Given the description of an element on the screen output the (x, y) to click on. 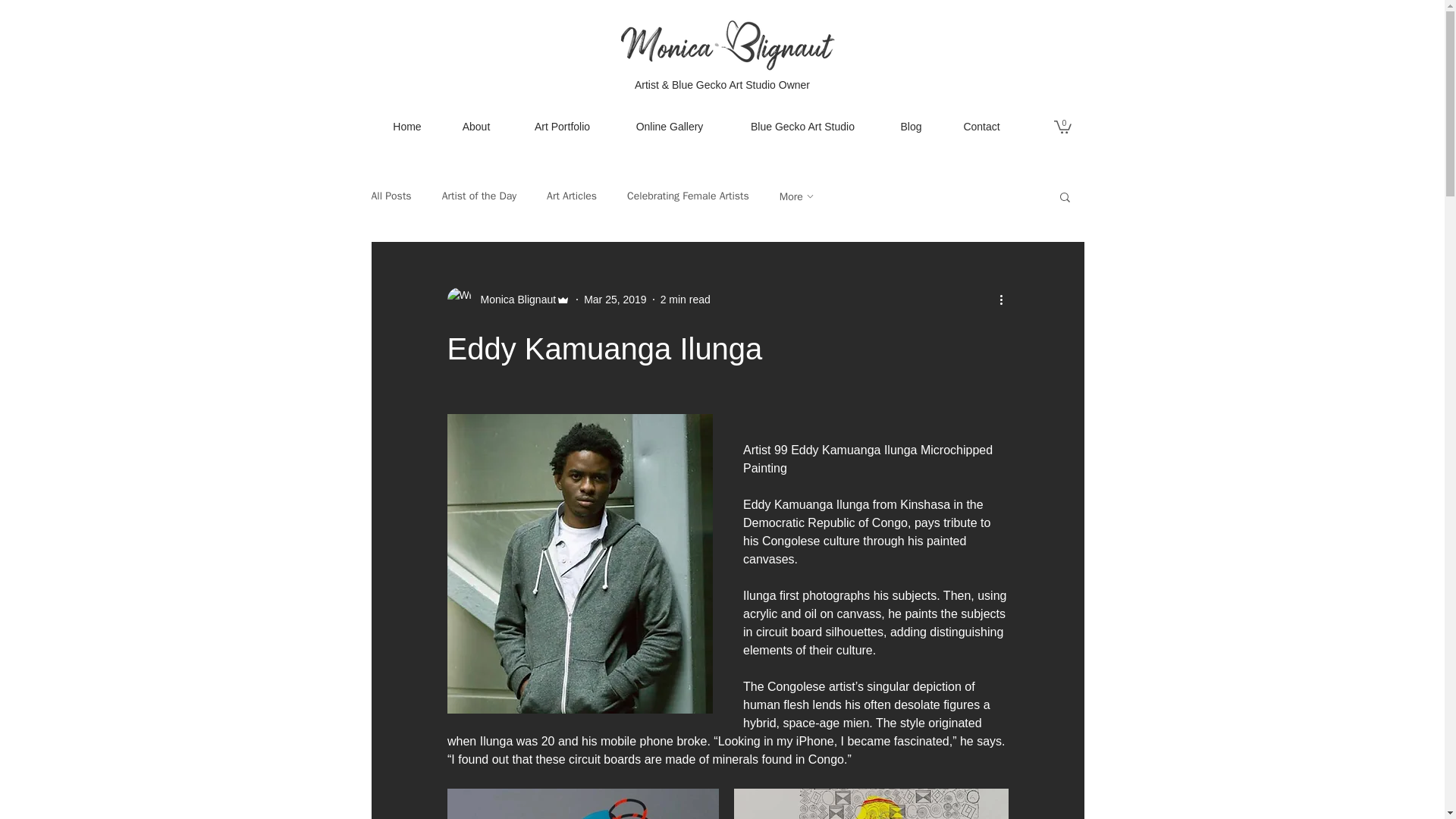
About (476, 126)
Home (407, 126)
Mar 25, 2019 (614, 299)
Contact (981, 126)
Artist of the Day (479, 196)
Blue Gecko Art Studio (802, 126)
Monica Blignaut (508, 299)
Celebrating Female Artists (688, 196)
2 min read (685, 299)
Monica Blignaut (513, 299)
Art Portfolio (562, 126)
Blog (910, 126)
Online Gallery (669, 126)
All Posts (391, 196)
Art Articles (571, 196)
